Given the description of an element on the screen output the (x, y) to click on. 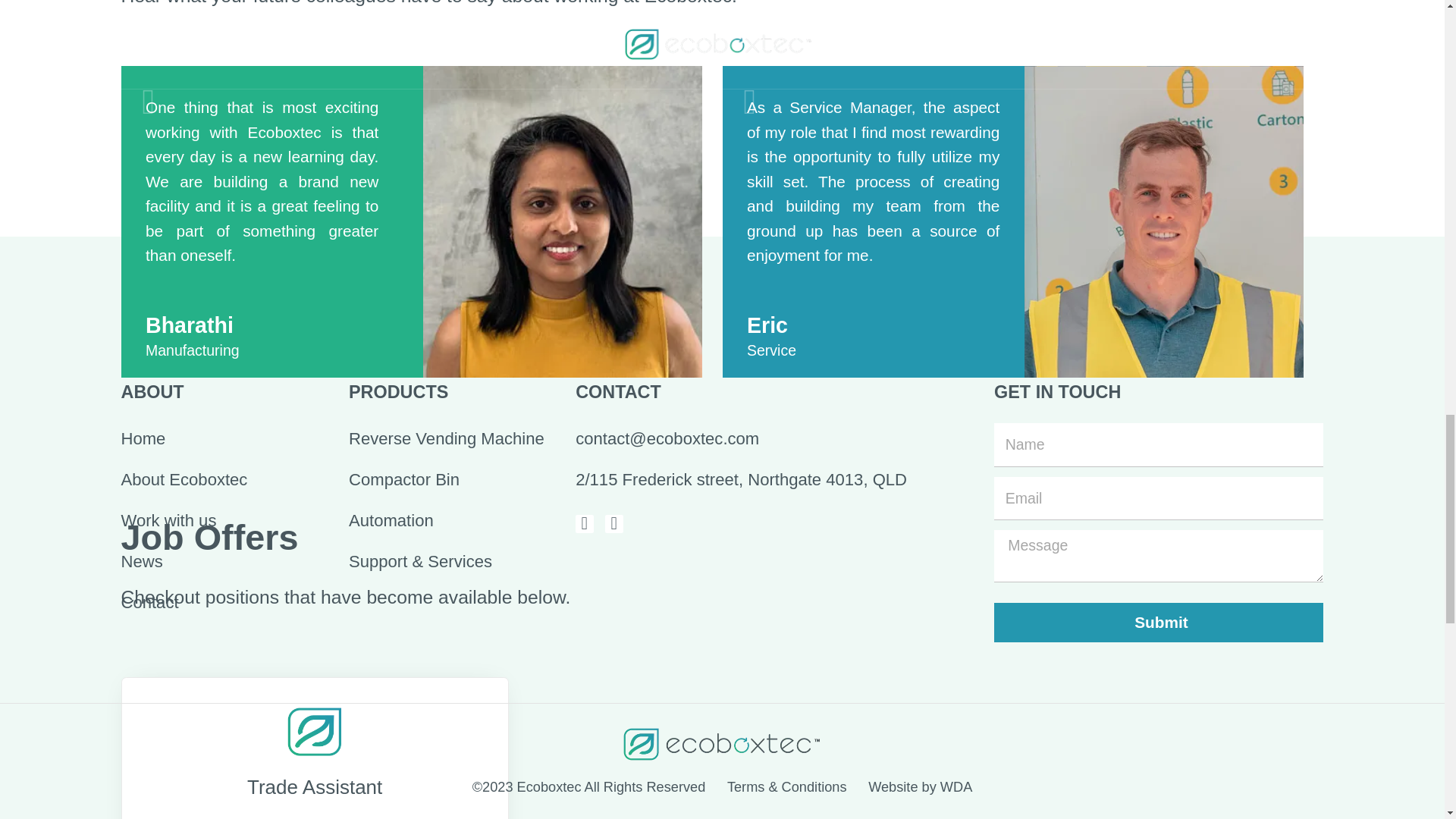
View Position (242, 317)
